Given the description of an element on the screen output the (x, y) to click on. 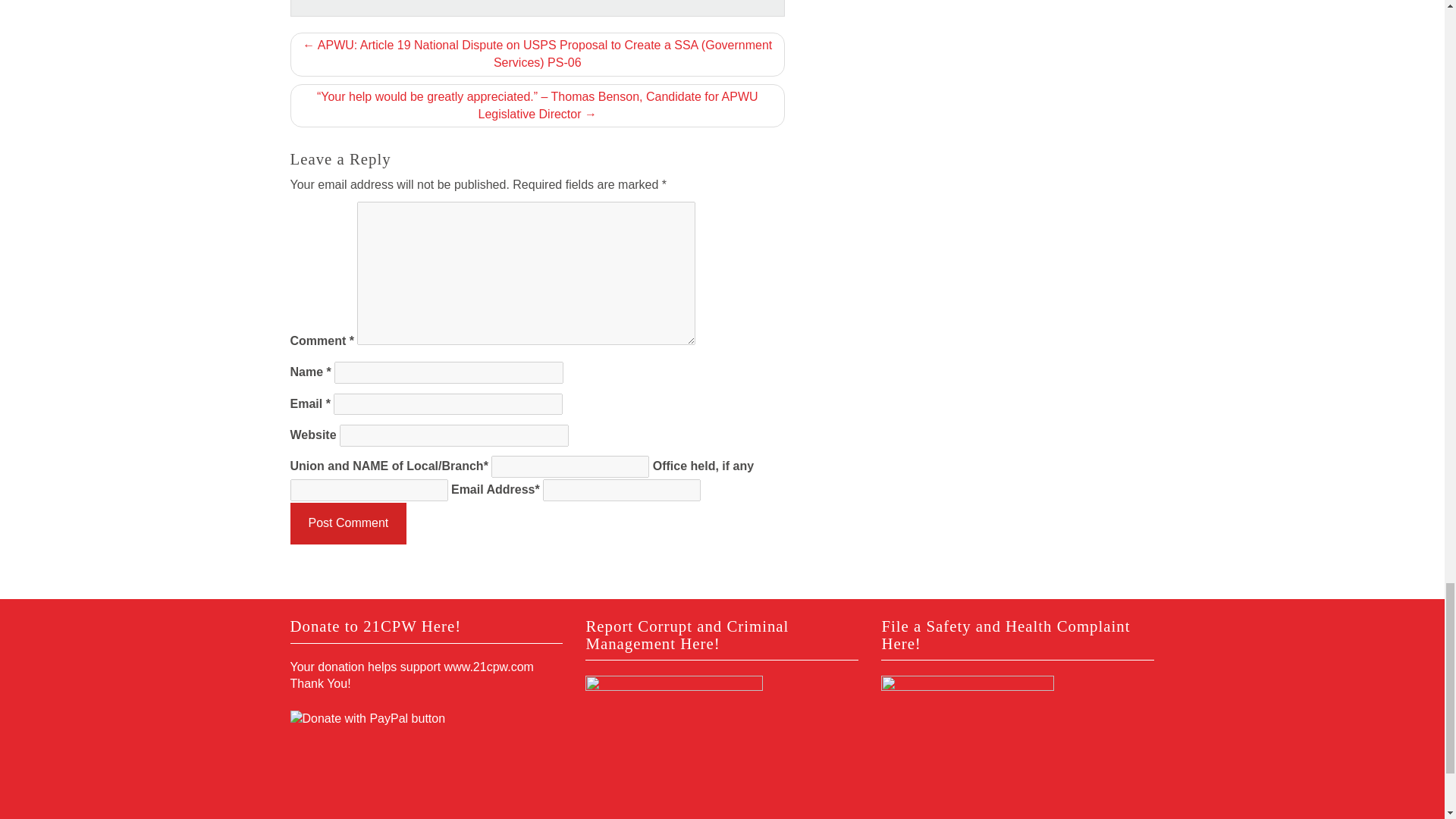
PayPal - The safer, easier way to pay online! (367, 719)
Post Comment (347, 523)
Post Comment (347, 523)
